Given the description of an element on the screen output the (x, y) to click on. 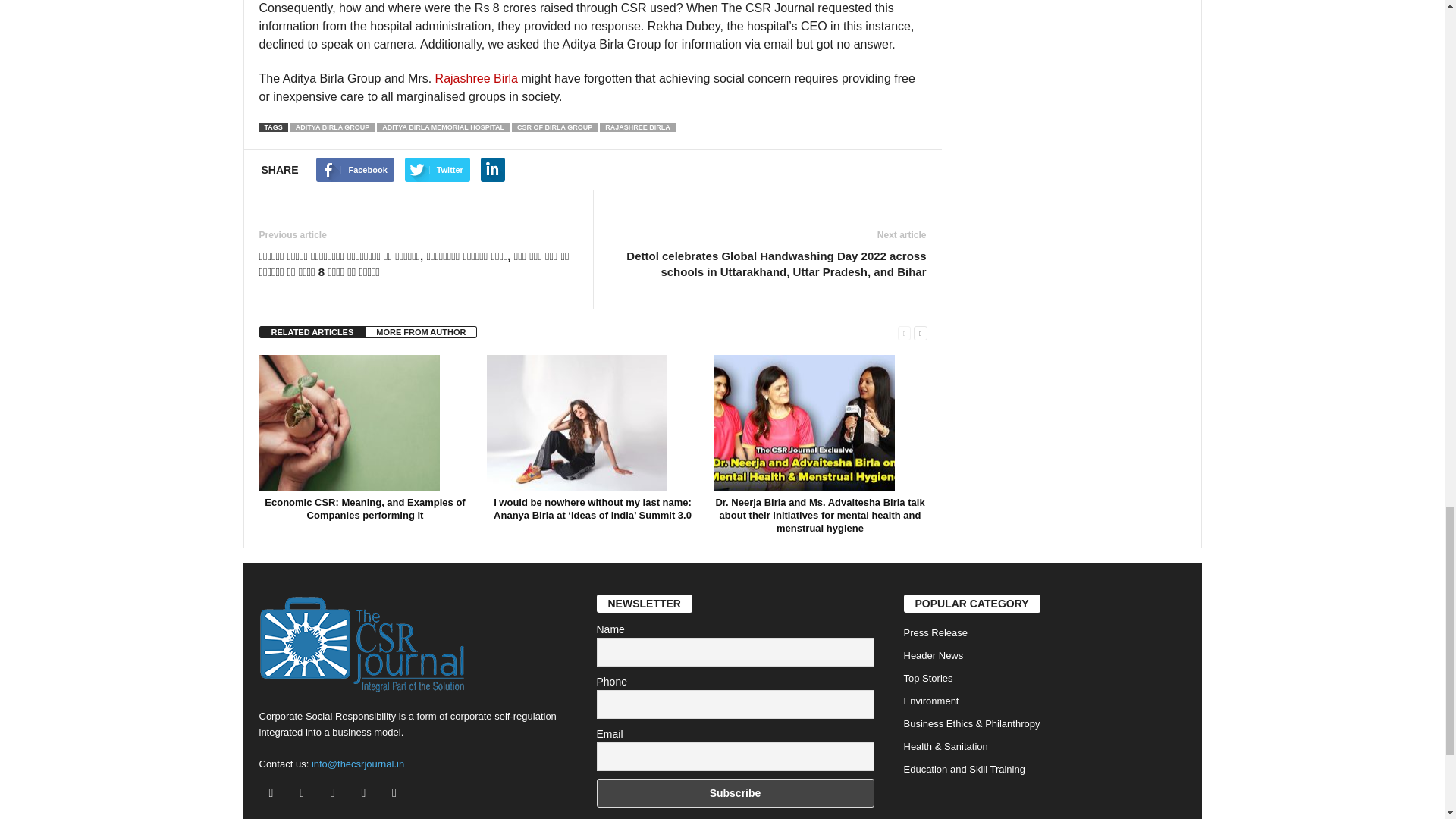
Subscribe (734, 792)
